Given the description of an element on the screen output the (x, y) to click on. 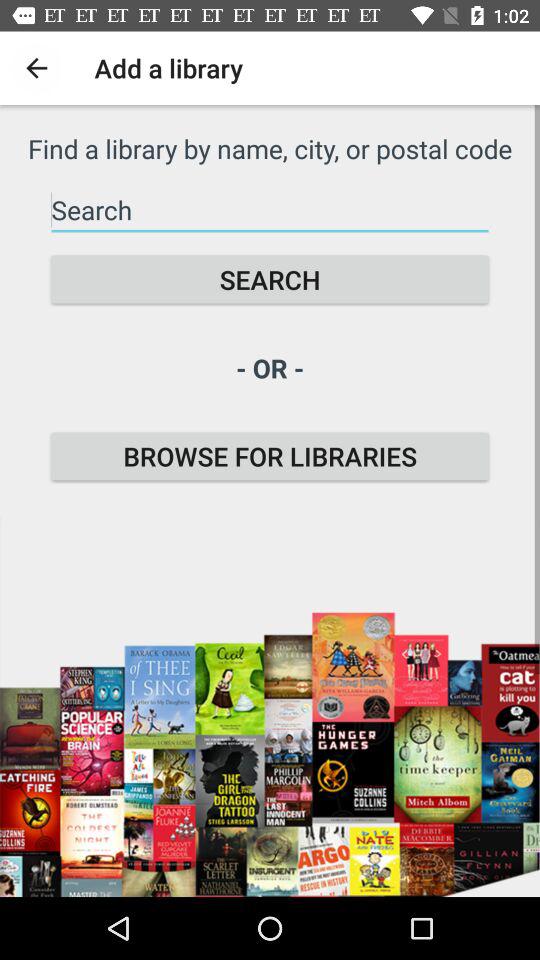
enter search word (269, 210)
